Given the description of an element on the screen output the (x, y) to click on. 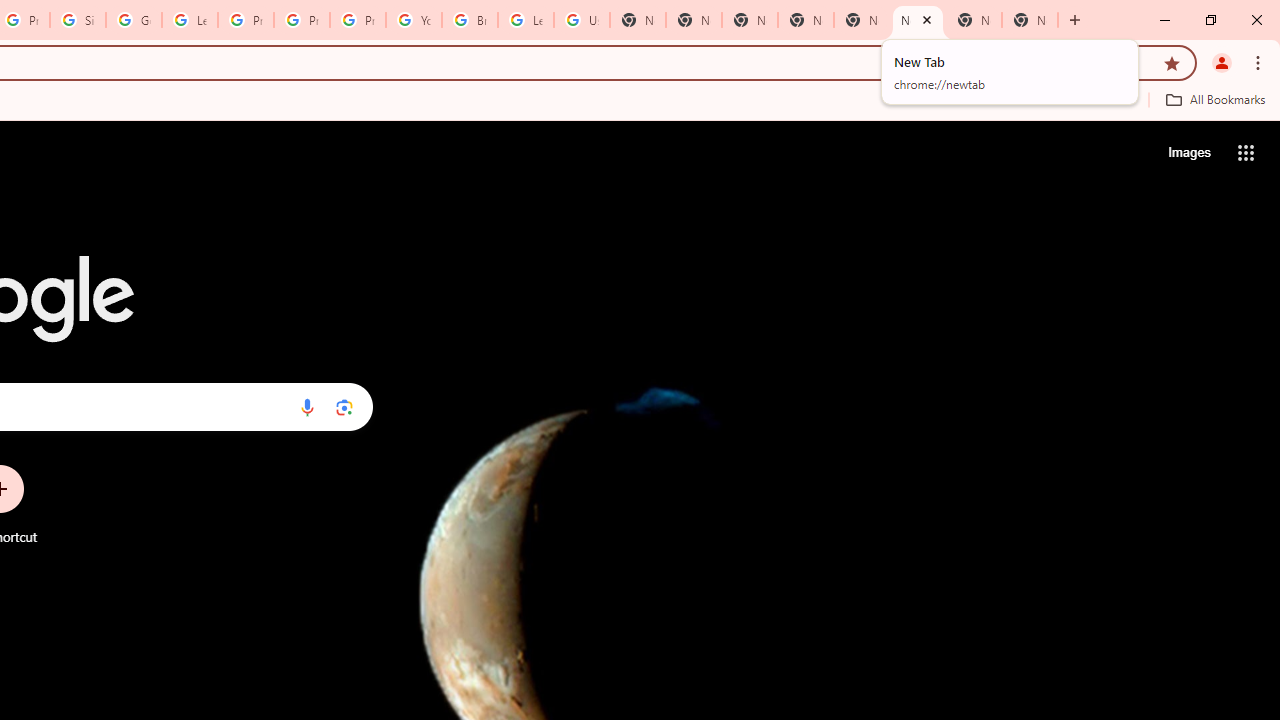
YouTube (413, 20)
New Tab (749, 20)
